Given the description of an element on the screen output the (x, y) to click on. 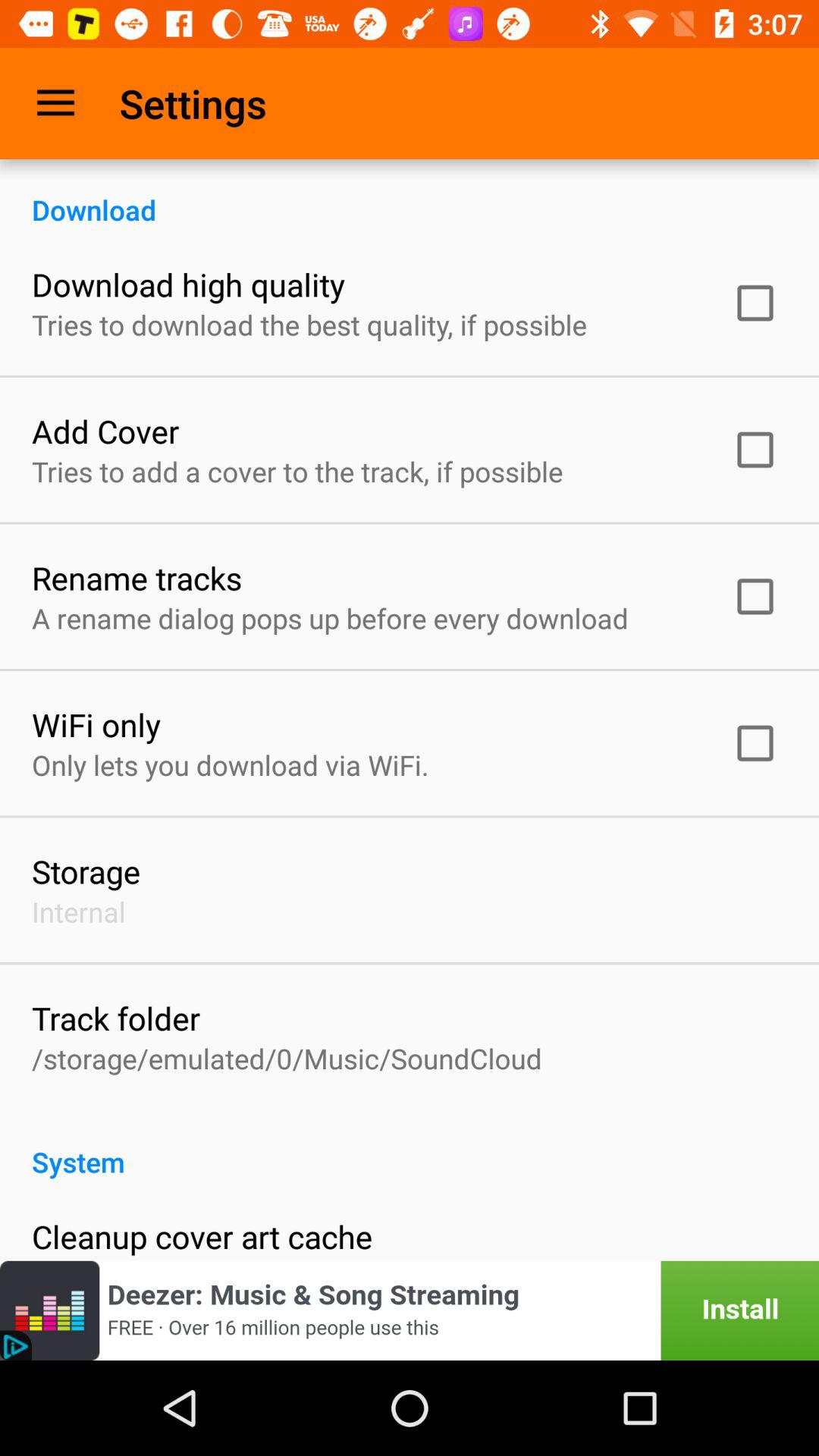
tap the item above the storage icon (229, 764)
